Given the description of an element on the screen output the (x, y) to click on. 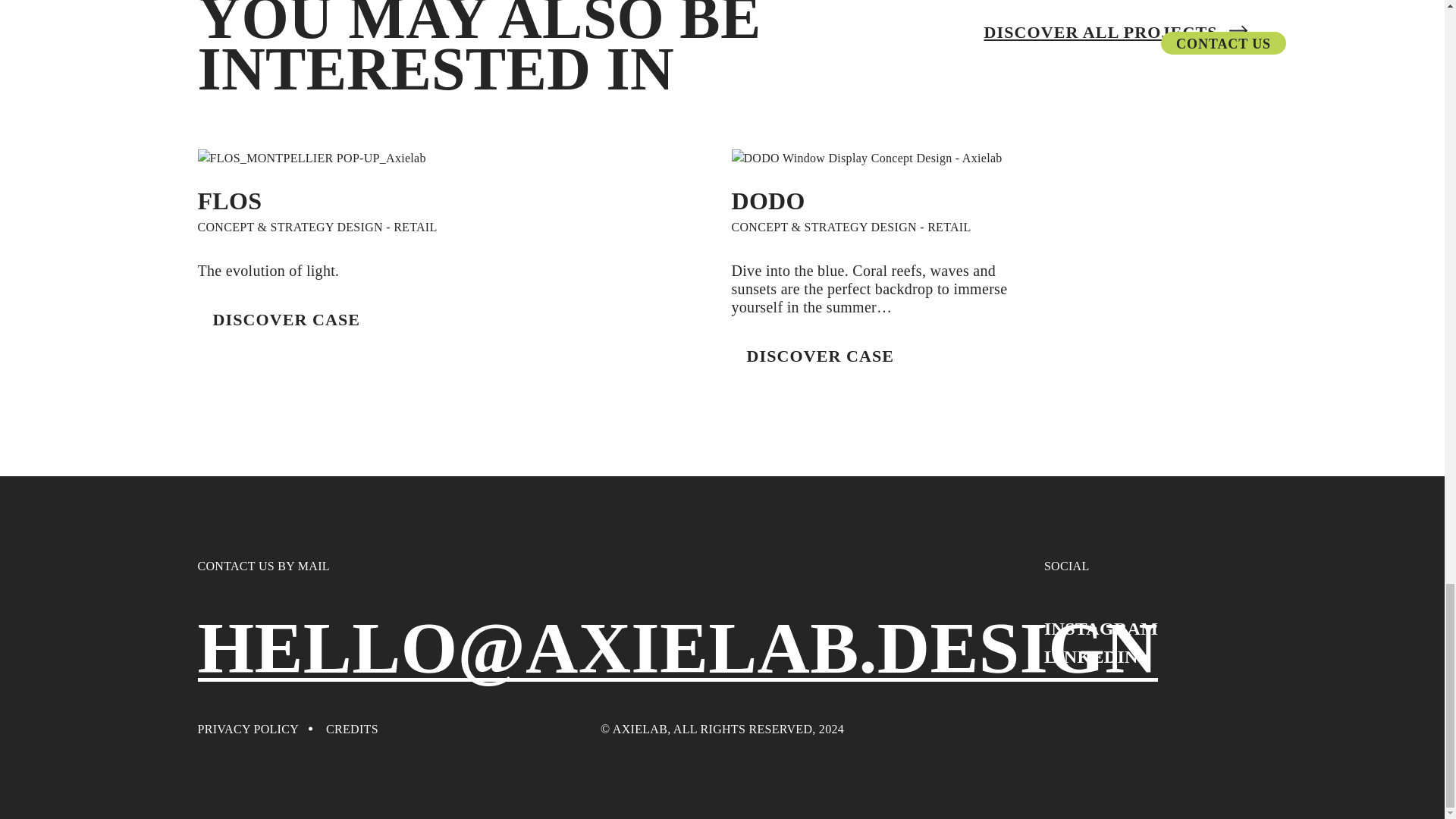
DISCOVER CASE (285, 319)
CREDITS (352, 728)
PRIVACY POLICY (247, 728)
DISCOVER CASE (819, 356)
DISCOVER ALL PROJECTS (1115, 31)
INSTAGRAM (1100, 628)
LINKEDIN (1090, 656)
